Given the description of an element on the screen output the (x, y) to click on. 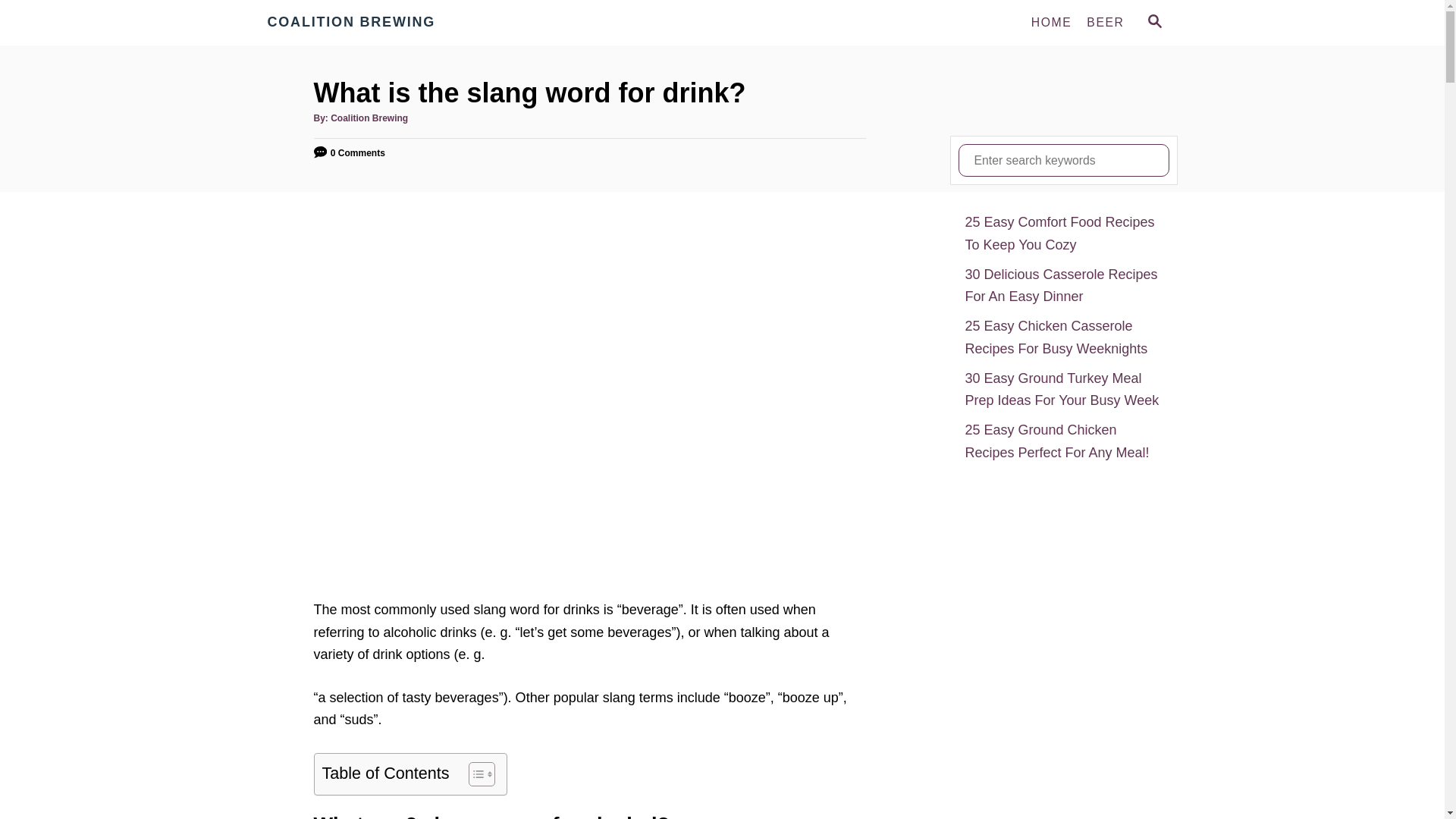
COALITION BREWING (403, 22)
30 Delicious Casserole Recipes For An Easy Dinner (1062, 286)
25 Easy Ground Chicken Recipes Perfect For Any Meal! (1062, 441)
Coalition Brewing (368, 118)
25 Easy Chicken Casserole Recipes For Busy Weeknights (1062, 337)
30 Easy Ground Turkey Meal Prep Ideas For Your Busy Week (1062, 389)
BEER (1104, 22)
SEARCH (1153, 22)
25 Easy Comfort Food Recipes To Keep You Cozy (1062, 234)
